Given the description of an element on the screen output the (x, y) to click on. 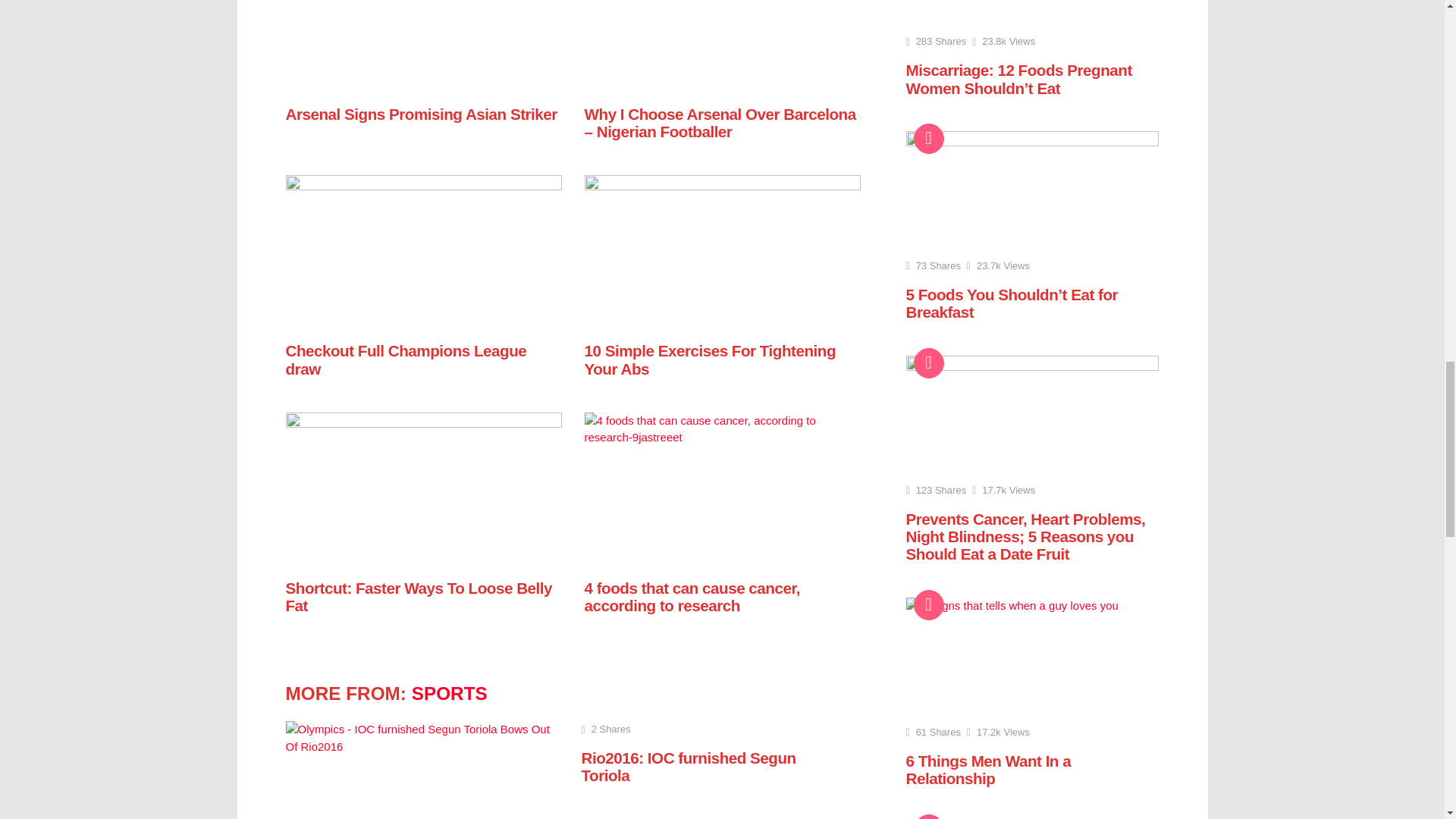
Popular (927, 138)
Popular (927, 363)
